Given the description of an element on the screen output the (x, y) to click on. 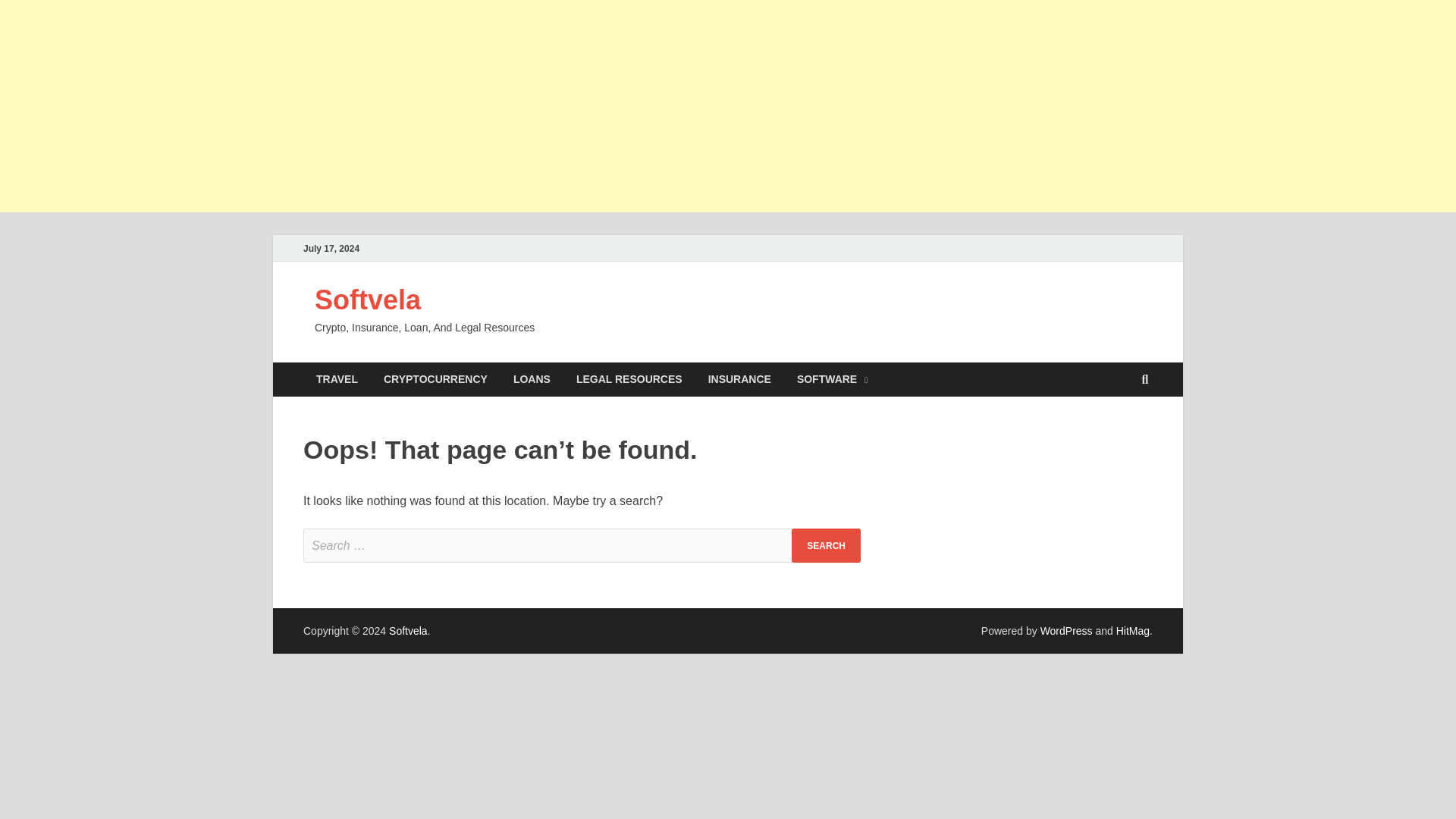
Softvela (408, 630)
LEGAL RESOURCES (629, 379)
TRAVEL (336, 379)
SOFTWARE (832, 379)
LOANS (531, 379)
Search (826, 545)
INSURANCE (739, 379)
Softvela (367, 299)
Search (826, 545)
CRYPTOCURRENCY (435, 379)
HitMag WordPress Theme (1133, 630)
WordPress (1067, 630)
